Given the description of an element on the screen output the (x, y) to click on. 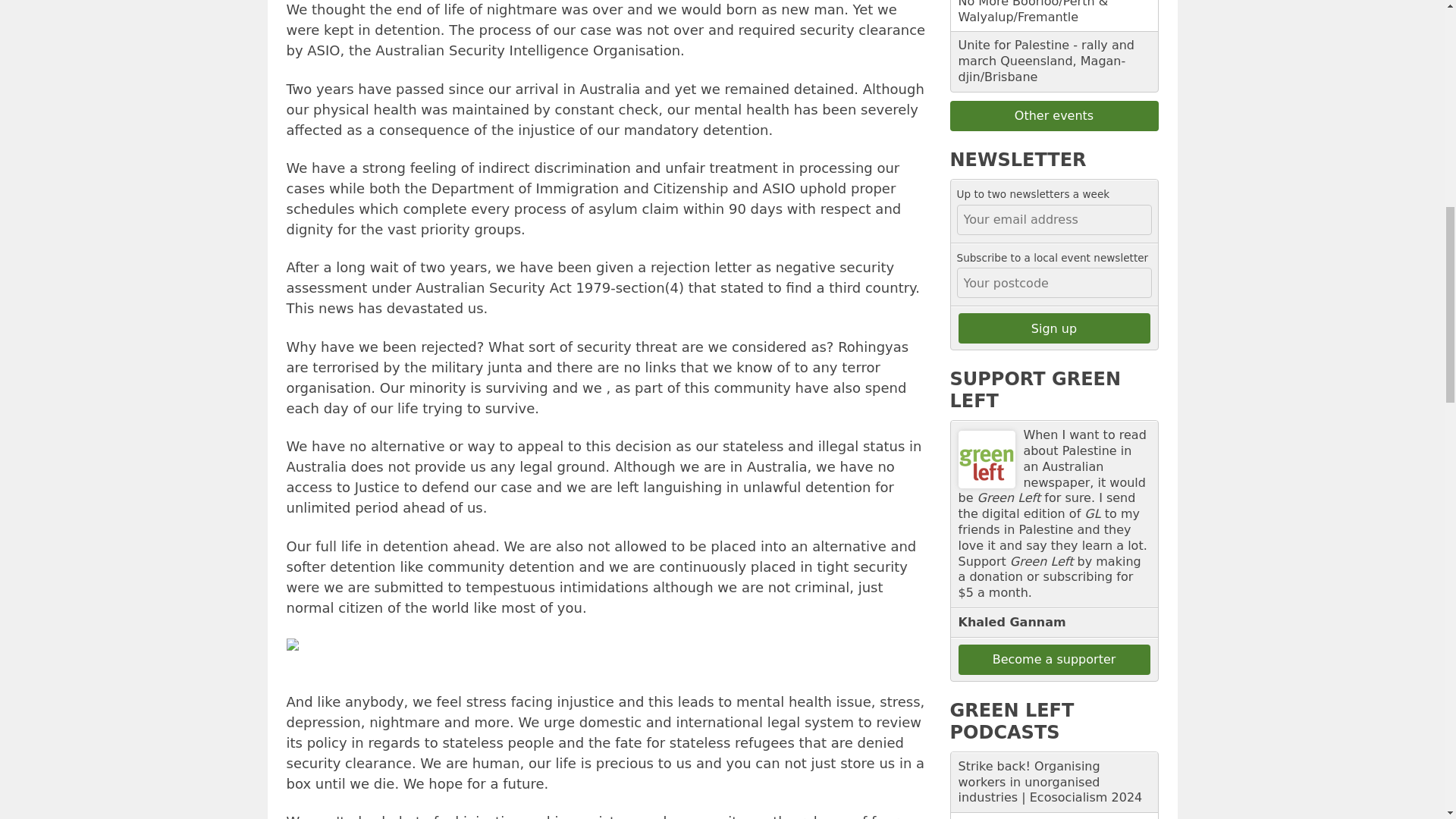
Sign up (1054, 327)
